Given the description of an element on the screen output the (x, y) to click on. 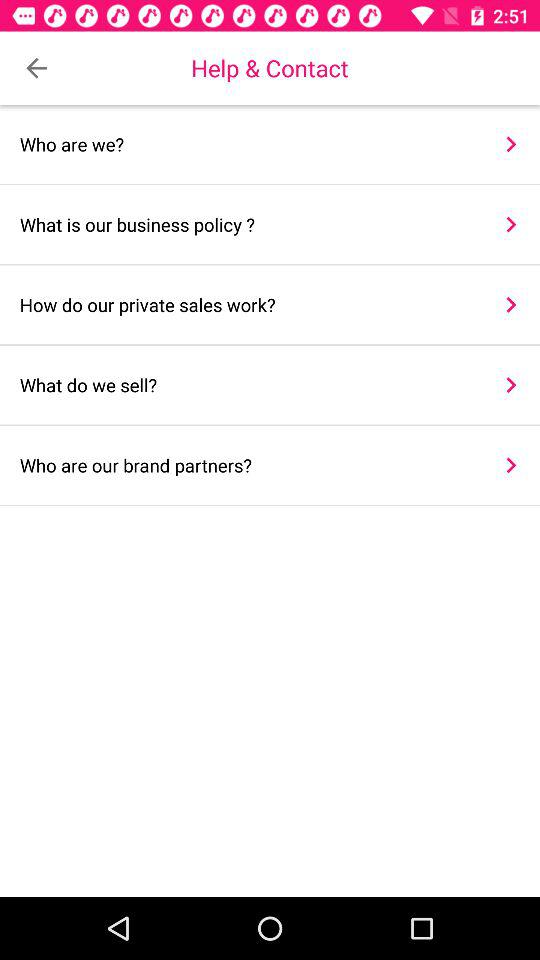
launch icon below how do our (510, 384)
